Given the description of an element on the screen output the (x, y) to click on. 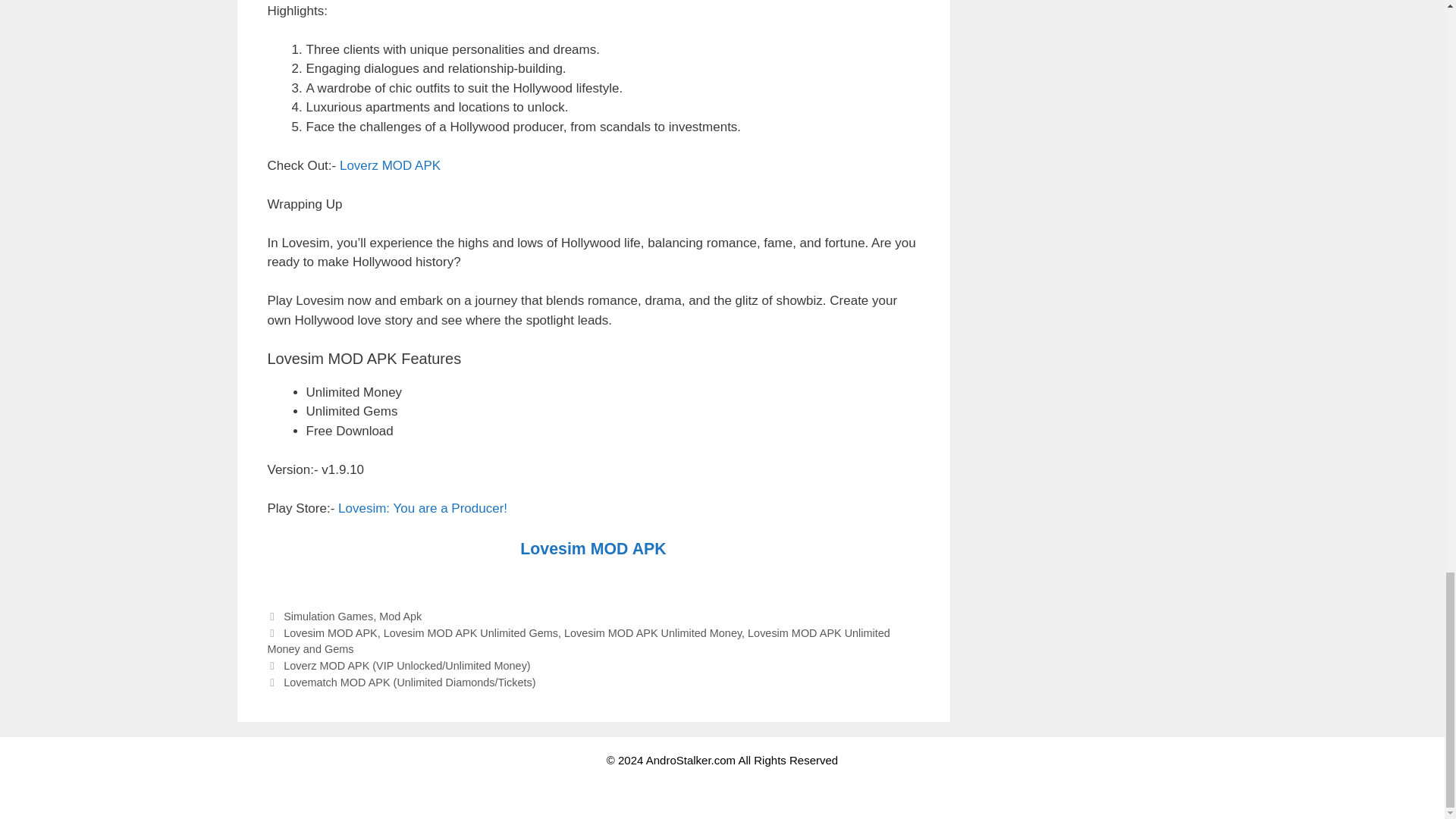
Lovesim MOD APK Unlimited Money and Gems (577, 641)
Lovesim MOD APK (592, 549)
Loverz MOD APK (390, 165)
Mod Apk (400, 616)
Simulation Games (327, 616)
Lovesim: You are a Producer! (421, 508)
Lovesim MOD APK Unlimited Money (652, 633)
Lovesim MOD APK Unlimited Gems (470, 633)
Lovesim MOD APK (330, 633)
